Given the description of an element on the screen output the (x, y) to click on. 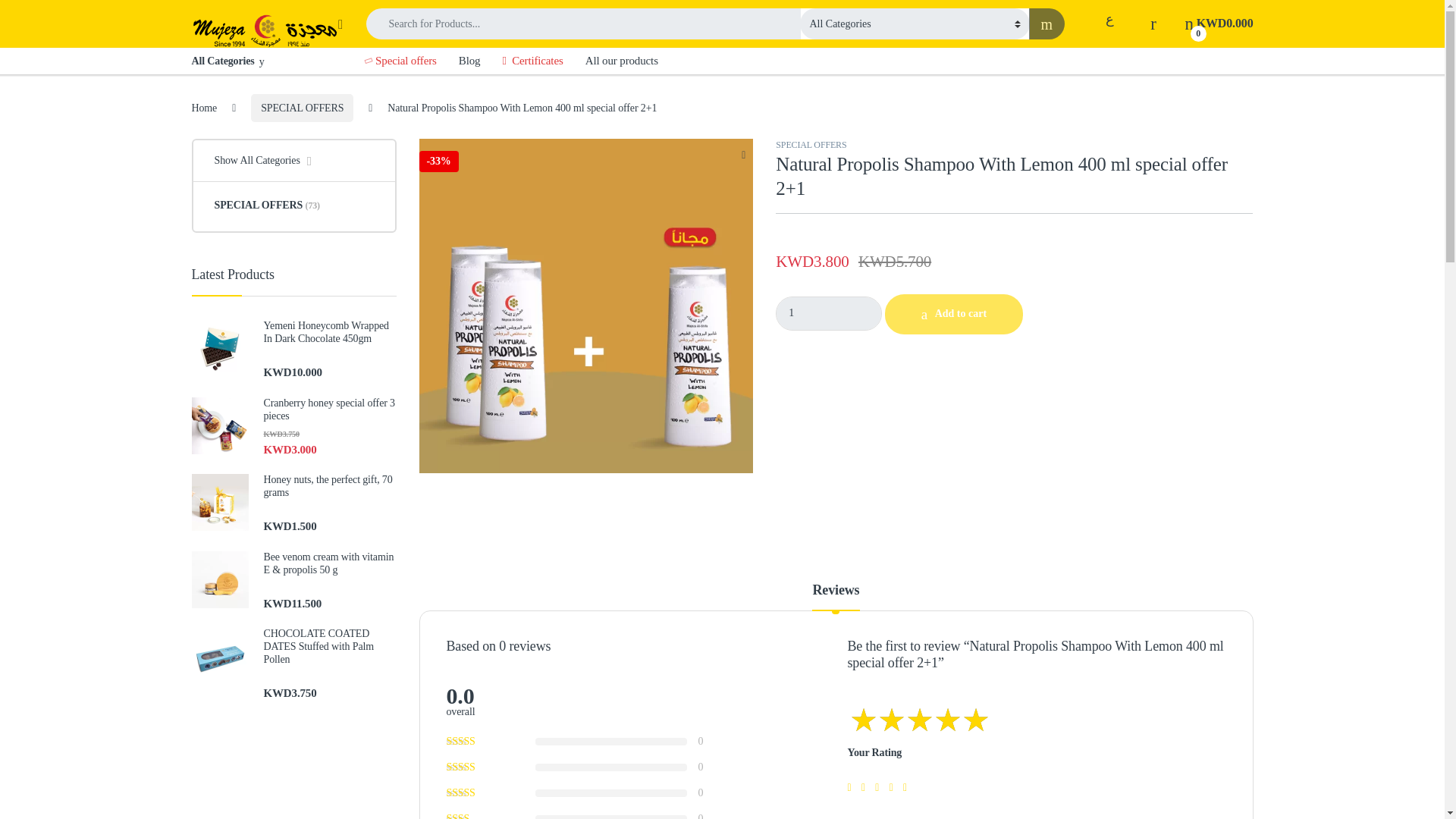
1 (829, 313)
All Categories (266, 60)
